Given the description of an element on the screen output the (x, y) to click on. 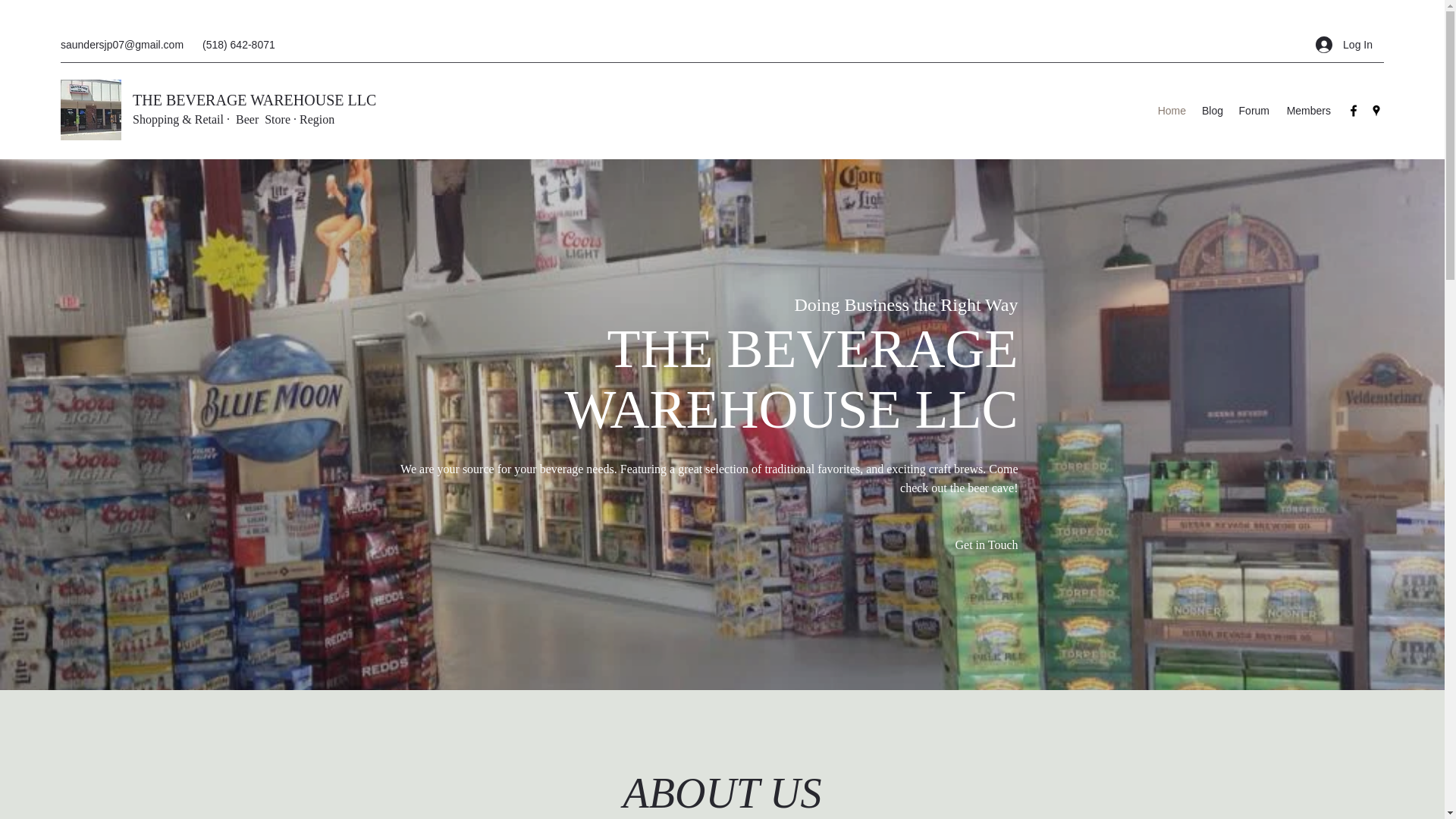
Home (1171, 110)
Forum (1253, 110)
Members (1307, 110)
Get in Touch (982, 545)
Log In (1343, 44)
Blog (1211, 110)
